Given the description of an element on the screen output the (x, y) to click on. 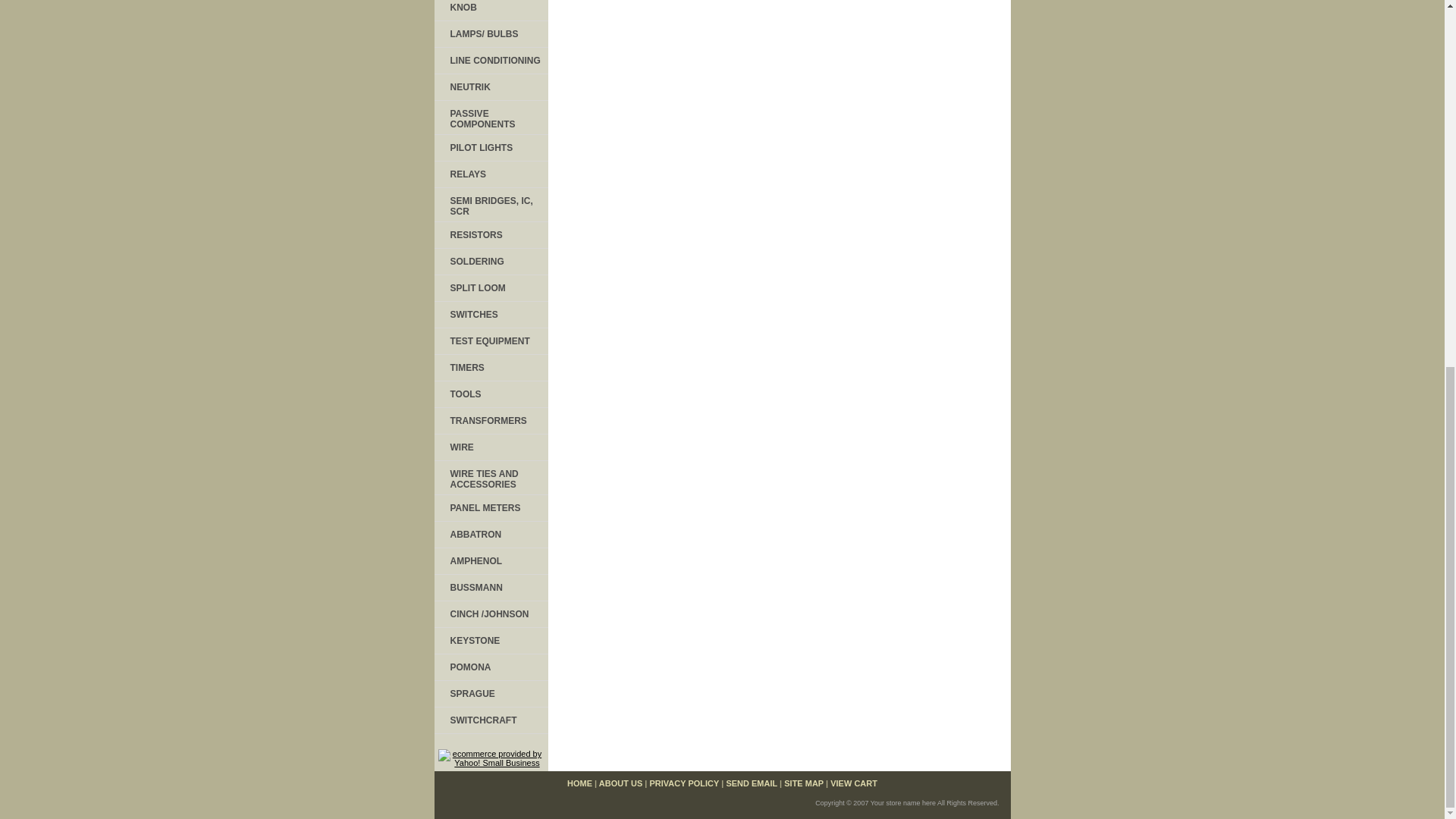
SEMI BRIDGES, IC, SCR (490, 204)
KNOB (490, 10)
RESISTORS (490, 234)
PILOT LIGHTS (490, 148)
PASSIVE COMPONENTS (490, 117)
LINE CONDITIONING (490, 60)
NEUTRIK (490, 87)
RELAYS (490, 174)
